Given the description of an element on the screen output the (x, y) to click on. 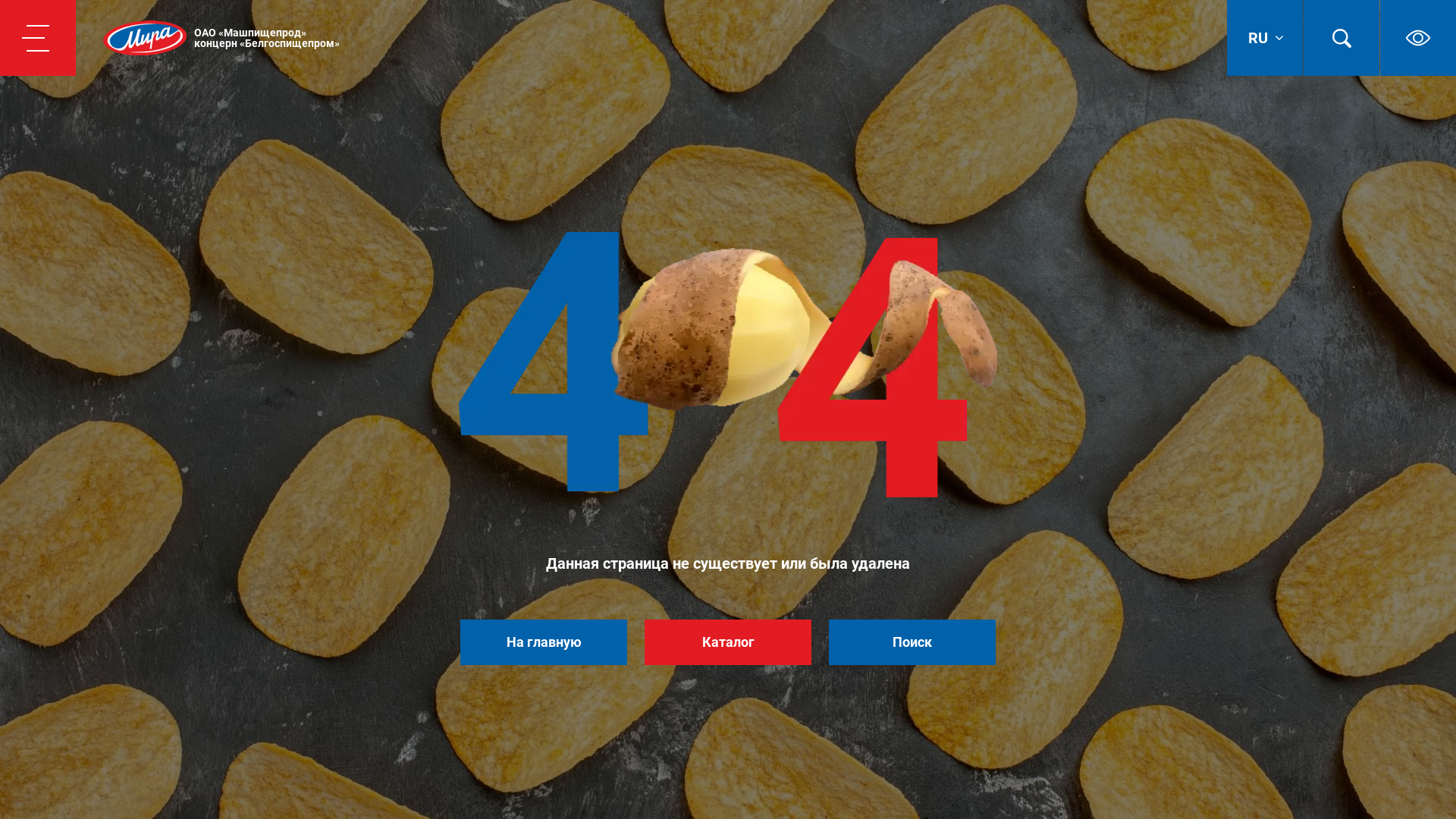
RU Element type: text (1264, 37)
